Given the description of an element on the screen output the (x, y) to click on. 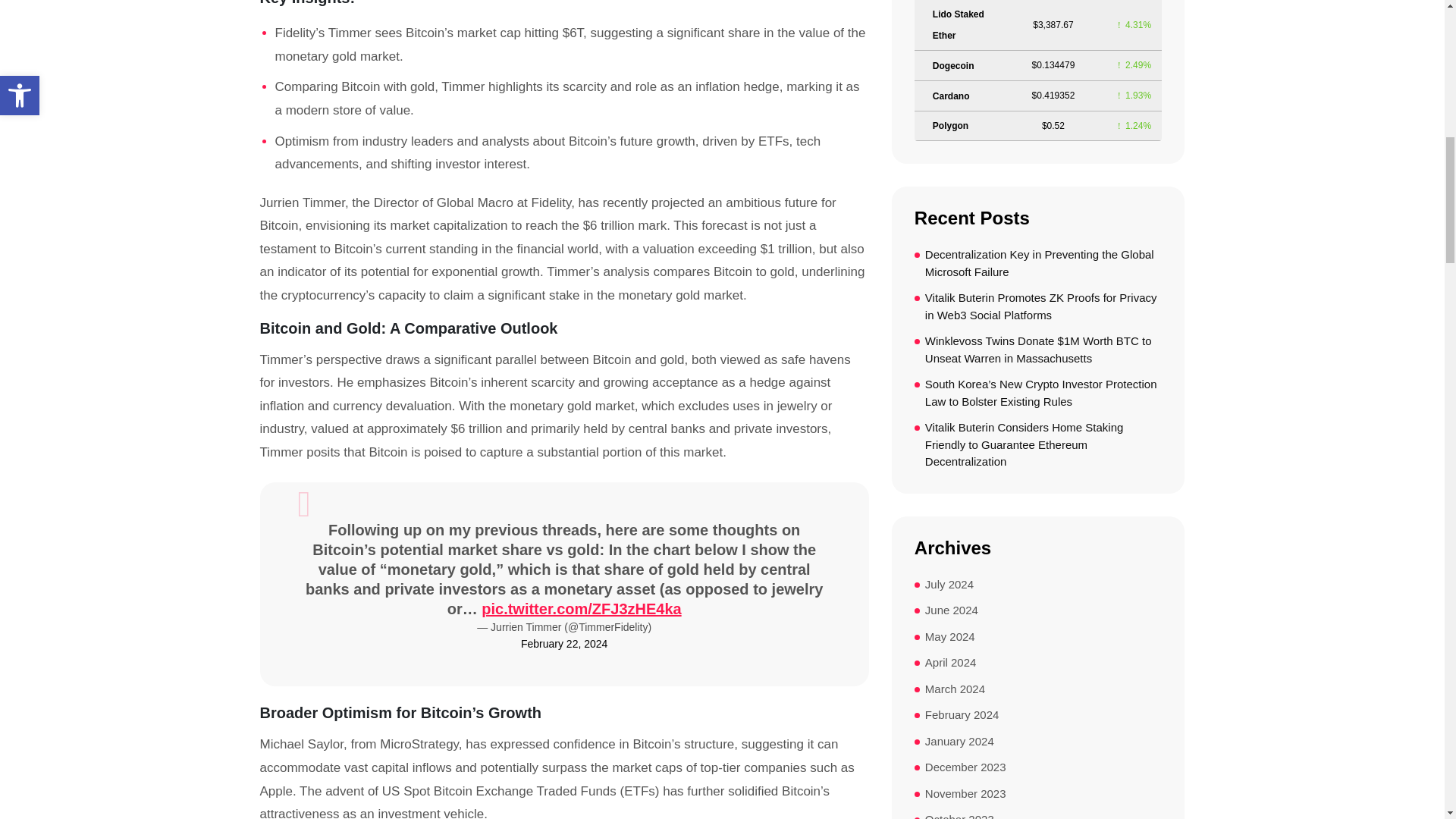
February 22, 2024 (563, 643)
April 2024 (950, 662)
July 2024 (949, 584)
May 2024 (949, 637)
June 2024 (951, 610)
